Given the description of an element on the screen output the (x, y) to click on. 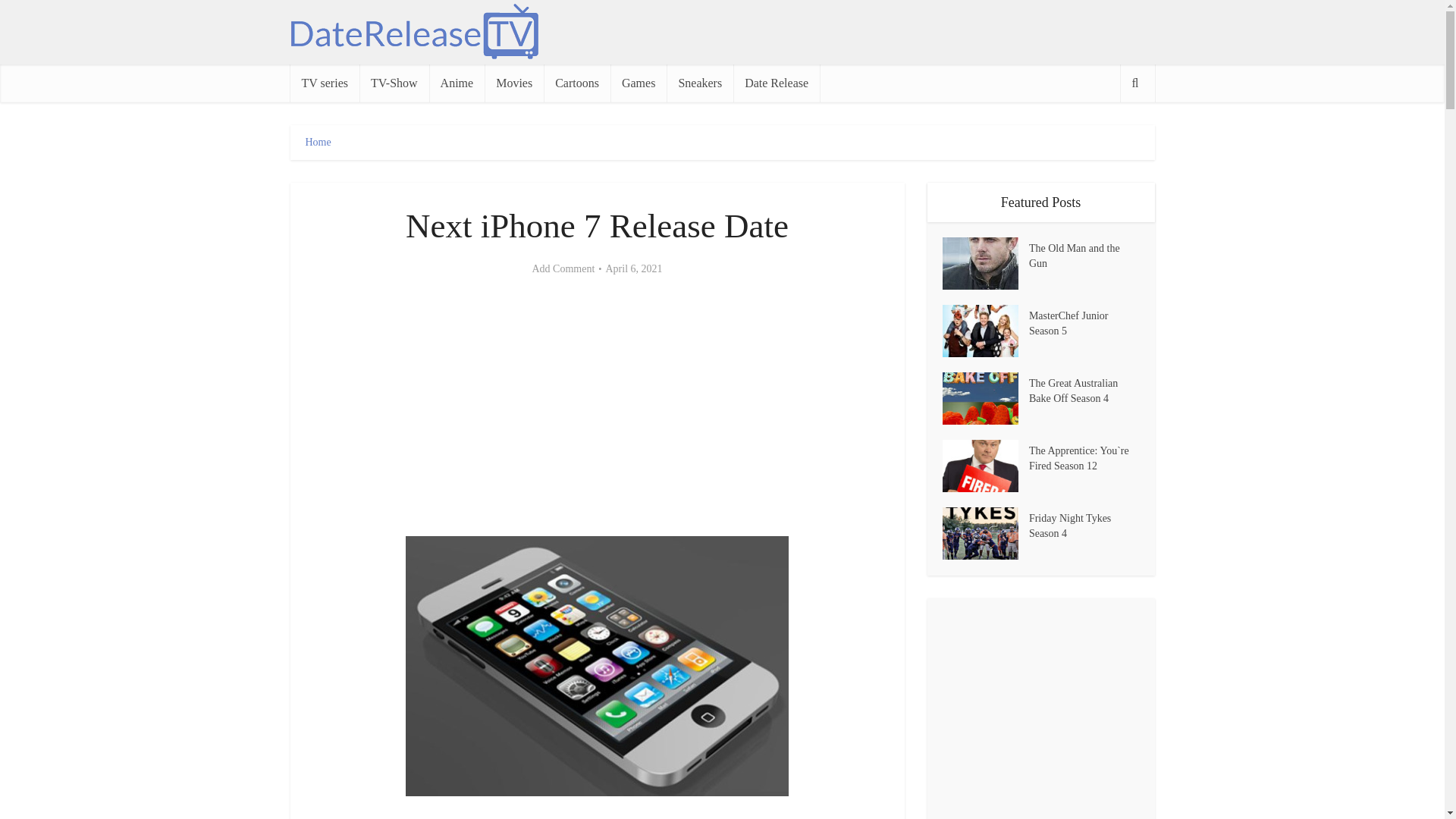
Anime (456, 83)
TV series (323, 83)
Sneakers (699, 83)
Add Comment (562, 269)
Games (638, 83)
Home (317, 142)
Movies (513, 83)
iPhone 7 release date (597, 666)
Cartoons (576, 83)
Advertisement (597, 407)
Date Release (776, 83)
TV-Show (394, 83)
